Given the description of an element on the screen output the (x, y) to click on. 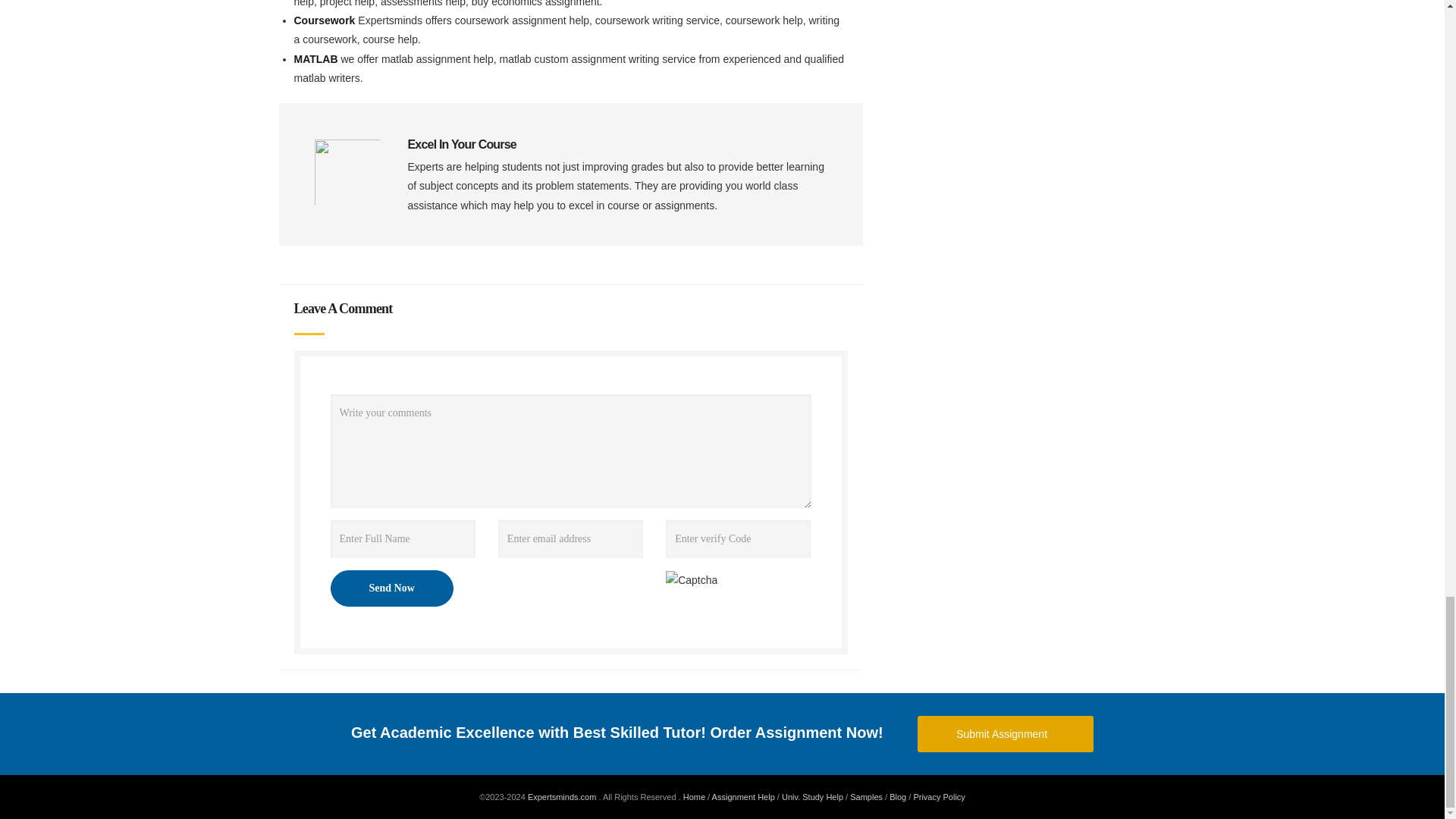
Coursework (326, 20)
Samples (866, 796)
assignment help (742, 796)
Send Now (391, 588)
MATLAB (317, 59)
Coursework (326, 20)
Univ. Study Help (812, 796)
Blog (897, 796)
Home (693, 796)
MATLAB (317, 59)
